Given the description of an element on the screen output the (x, y) to click on. 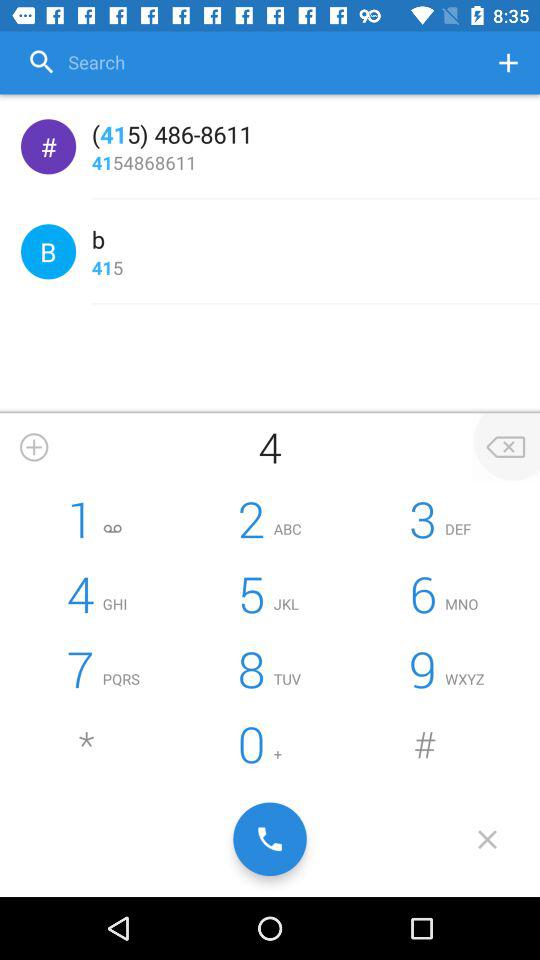
close the option (505, 447)
